Given the description of an element on the screen output the (x, y) to click on. 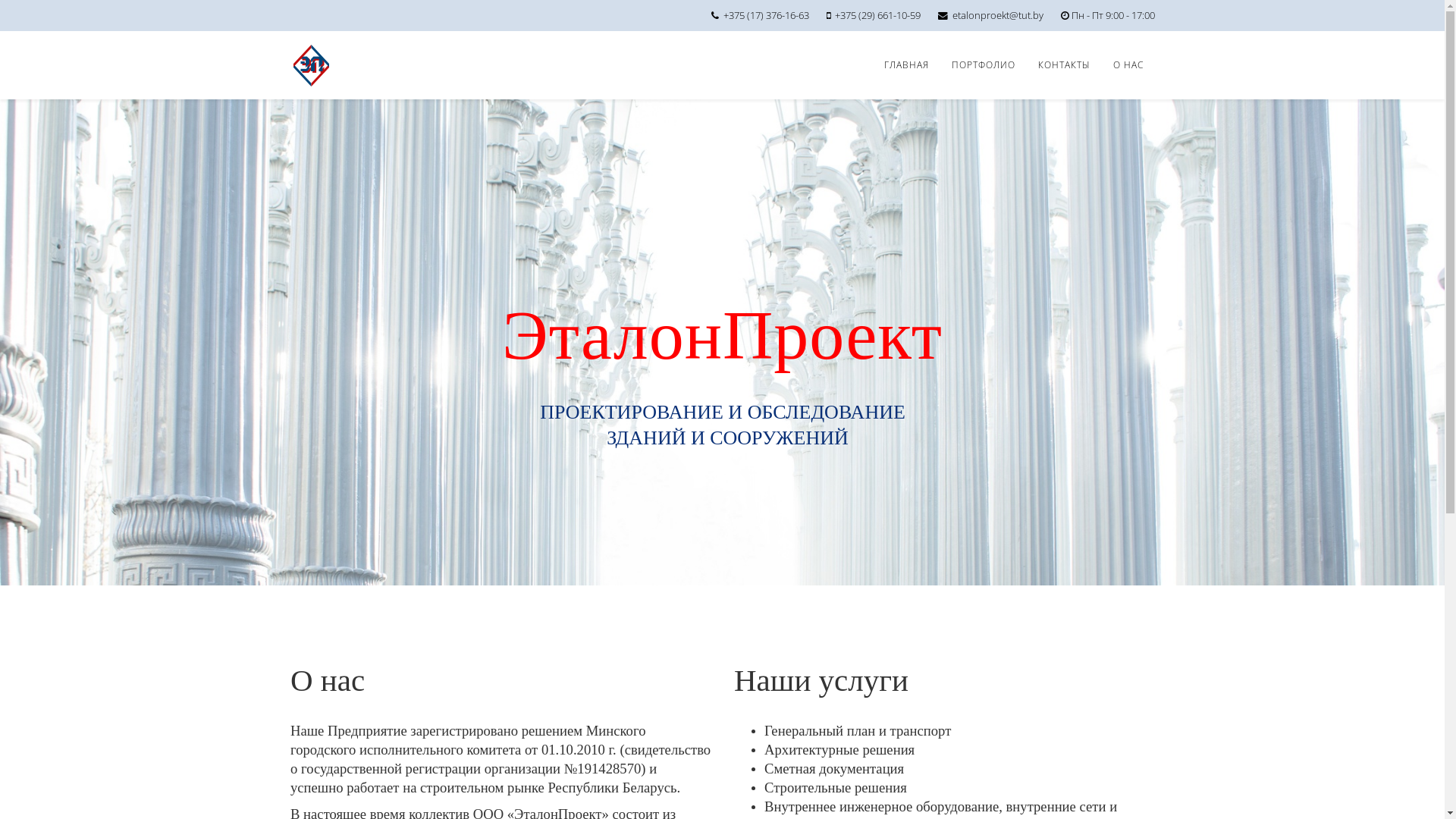
+375 (29) 661-10-59 Element type: text (876, 15)
+375 (17) 376-16-63 Element type: text (766, 15)
etalonproekt@tut.by Element type: text (997, 15)
